Given the description of an element on the screen output the (x, y) to click on. 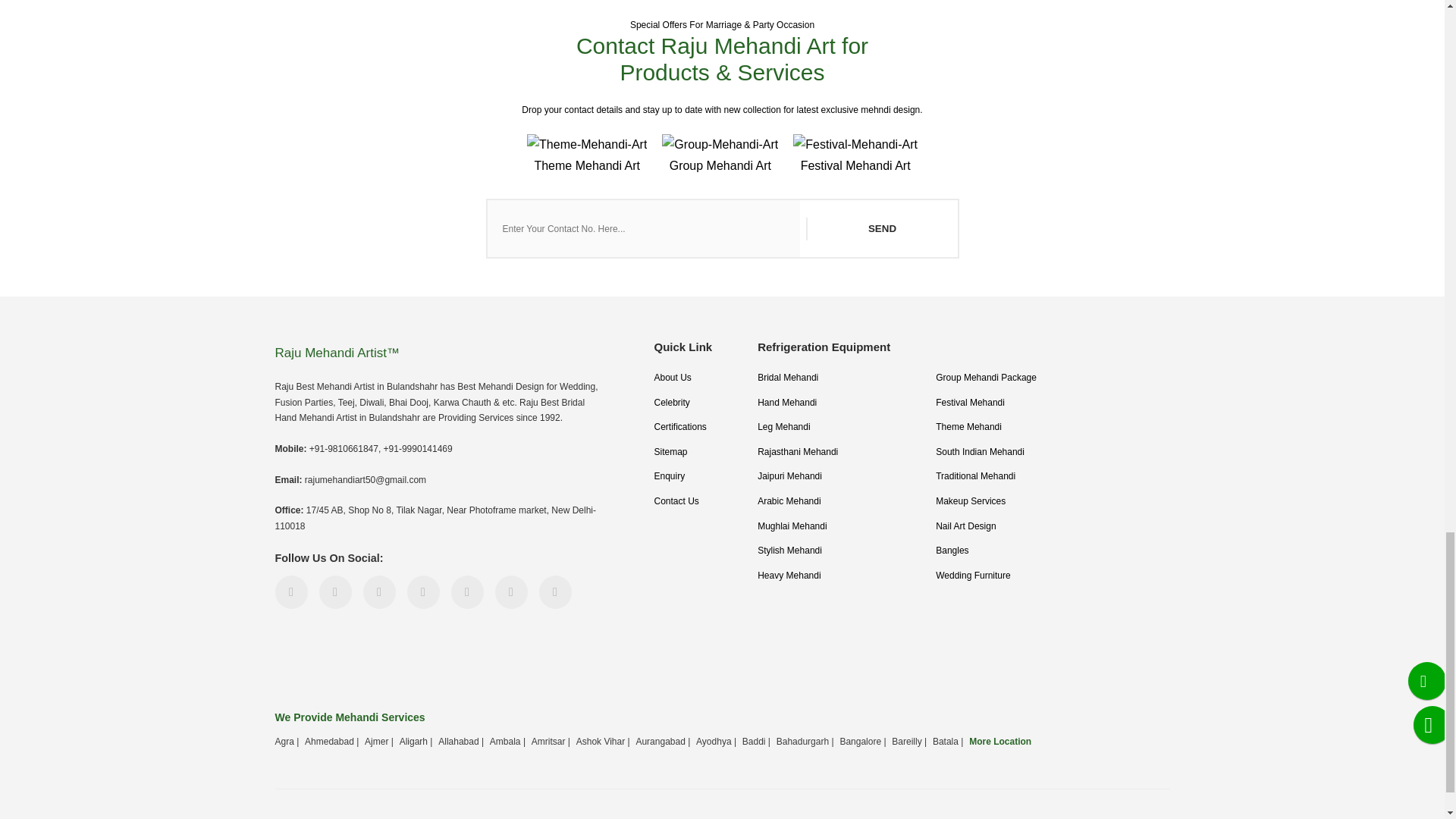
Group Mehandi Art (719, 157)
SEND (880, 228)
Theme Mehandi Art (586, 157)
Festival Mehandi Art (855, 157)
